Given the description of an element on the screen output the (x, y) to click on. 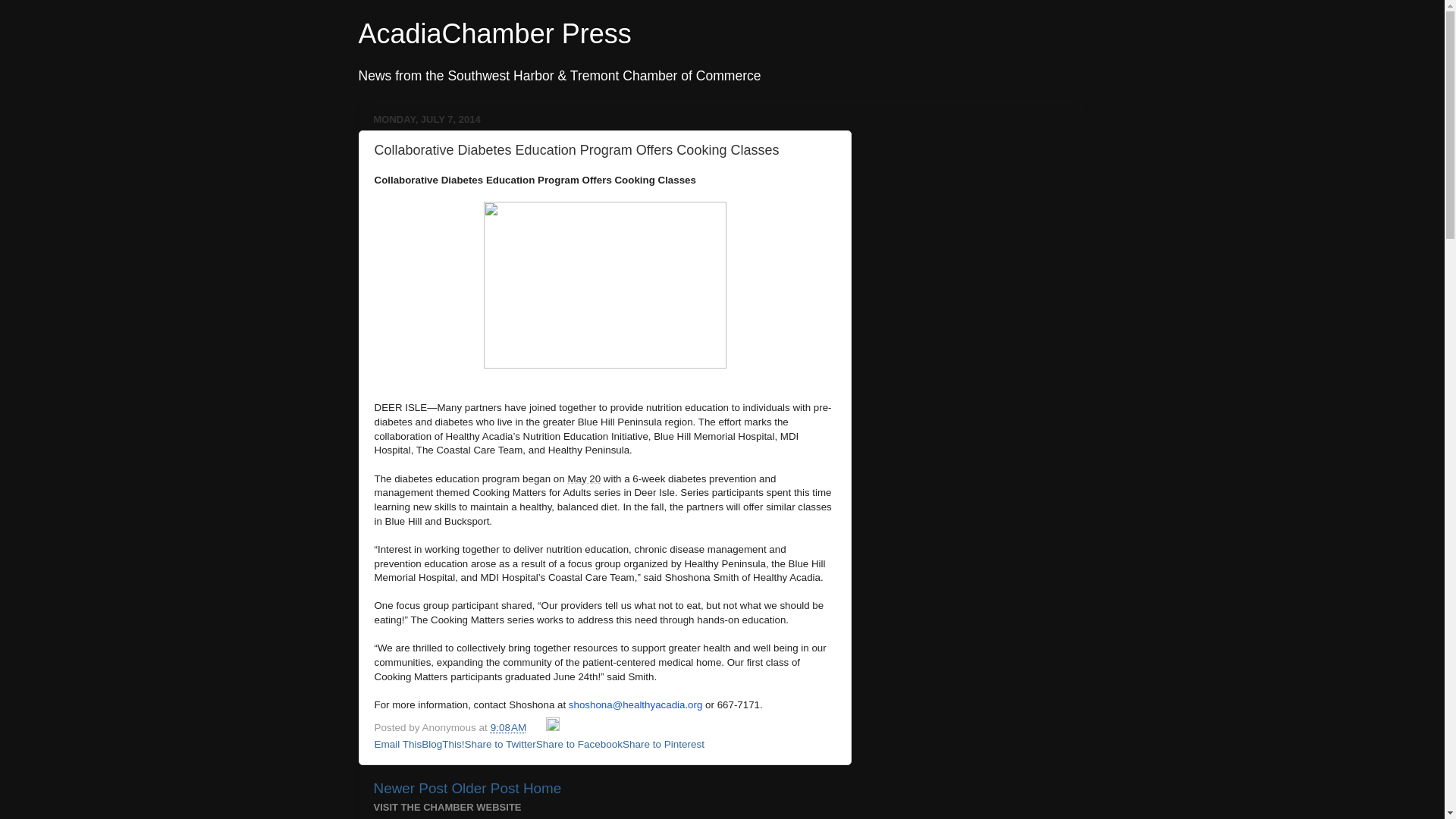
Share to Twitter (499, 744)
Newer Post (409, 788)
BlogThis! (443, 744)
Share to Twitter (499, 744)
Email This (398, 744)
Share to Facebook (579, 744)
permanent link (508, 727)
Share to Facebook (579, 744)
Older Post (484, 788)
